Given the description of an element on the screen output the (x, y) to click on. 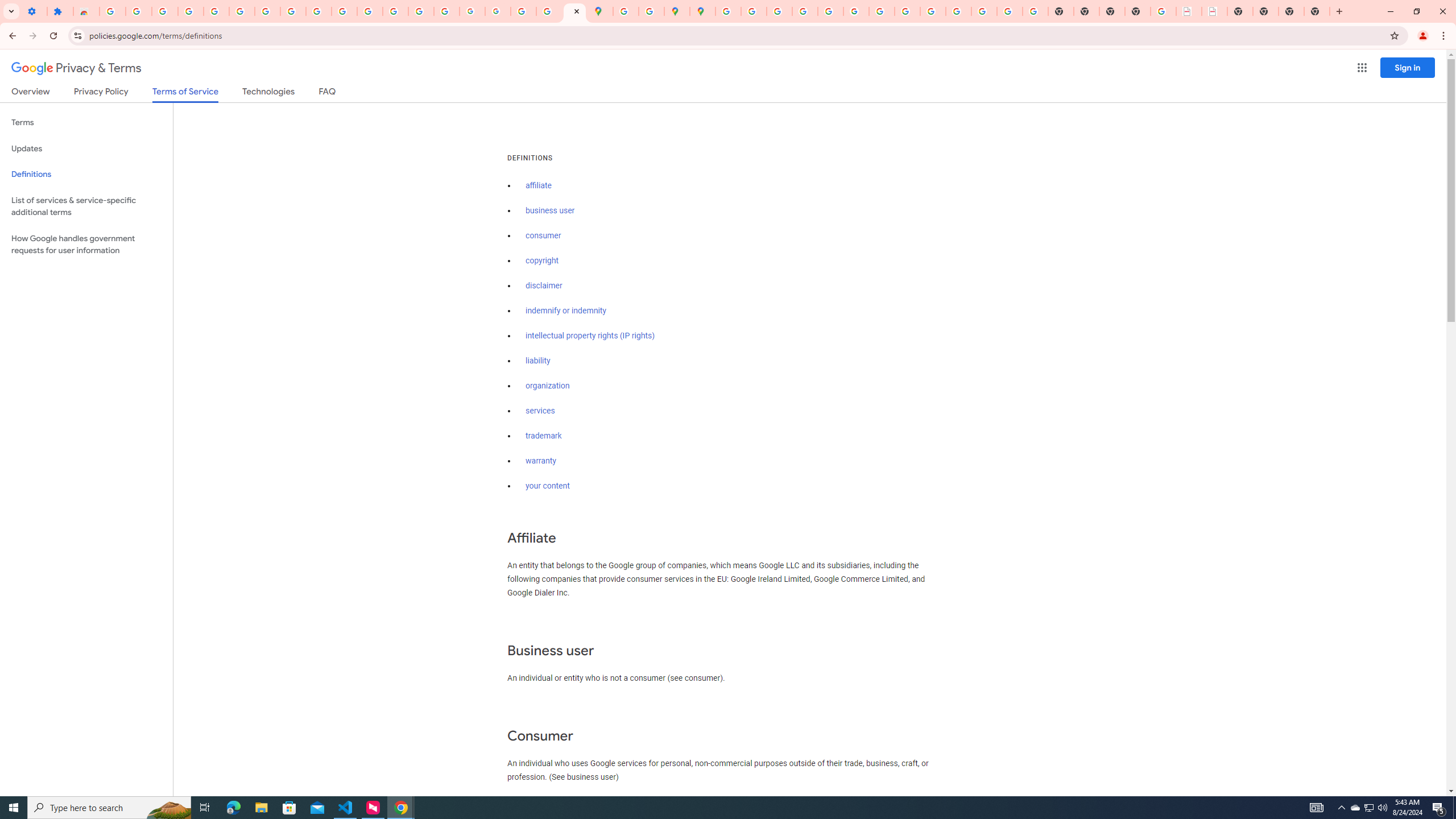
consumer (543, 235)
New Tab (1316, 11)
Sign in - Google Accounts (112, 11)
Sign in - Google Accounts (727, 11)
YouTube (318, 11)
